Given the description of an element on the screen output the (x, y) to click on. 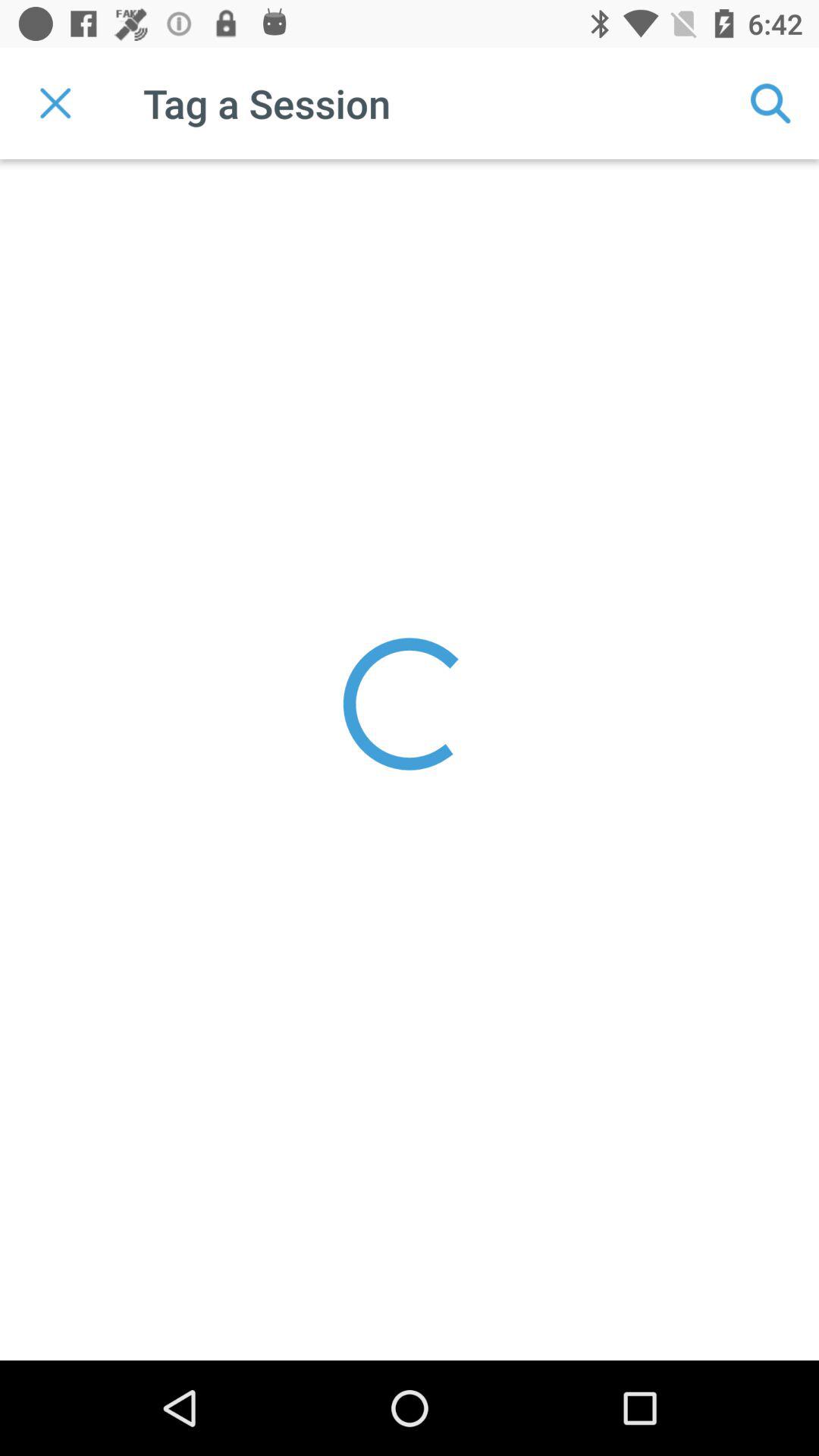
launch the item below the tag a session icon (409, 703)
